Given the description of an element on the screen output the (x, y) to click on. 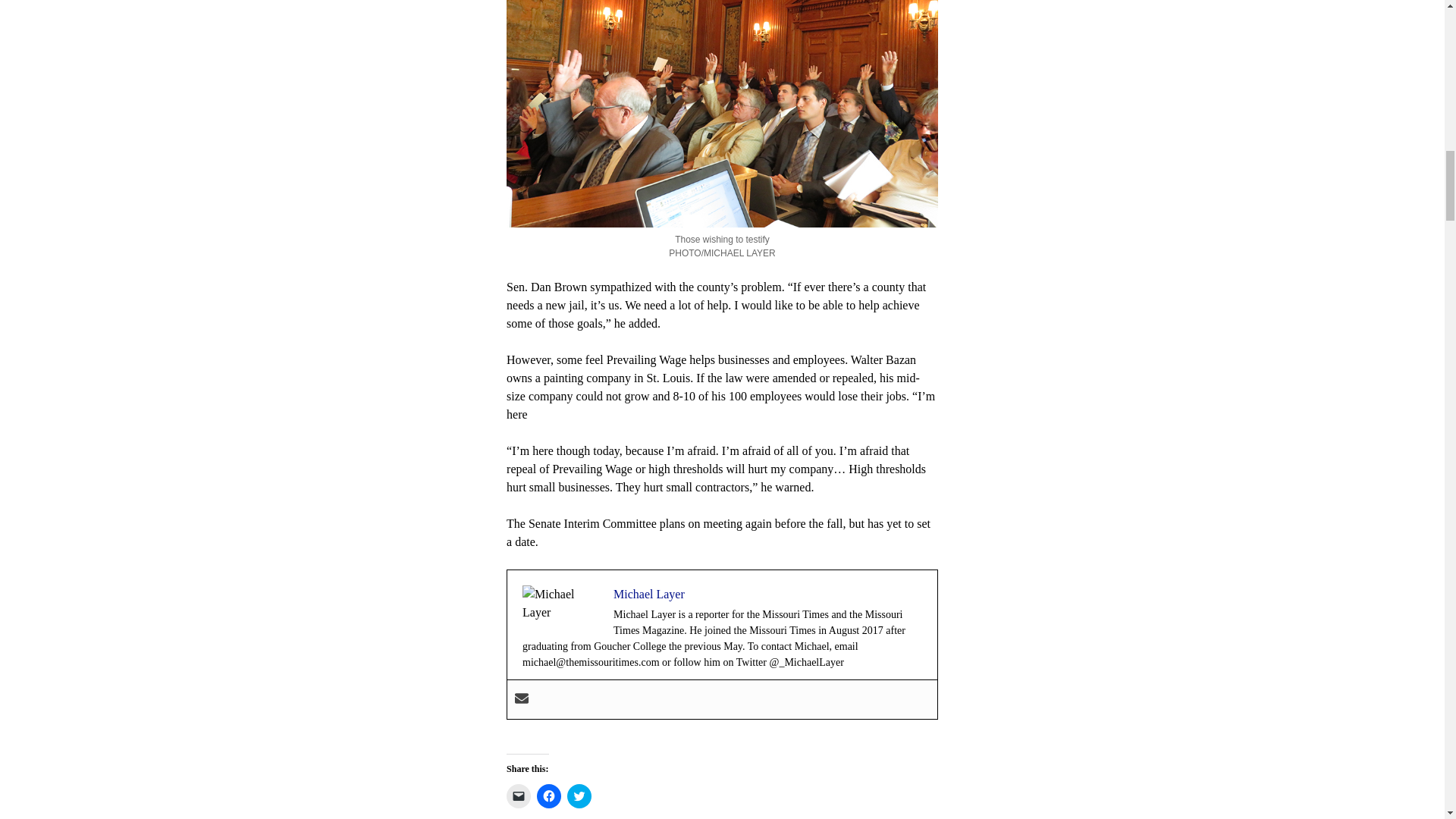
Click to email a link to a friend (518, 795)
User email (521, 699)
Michael Layer (648, 594)
Click to share on Facebook (548, 795)
Click to share on Twitter (579, 795)
